Given the description of an element on the screen output the (x, y) to click on. 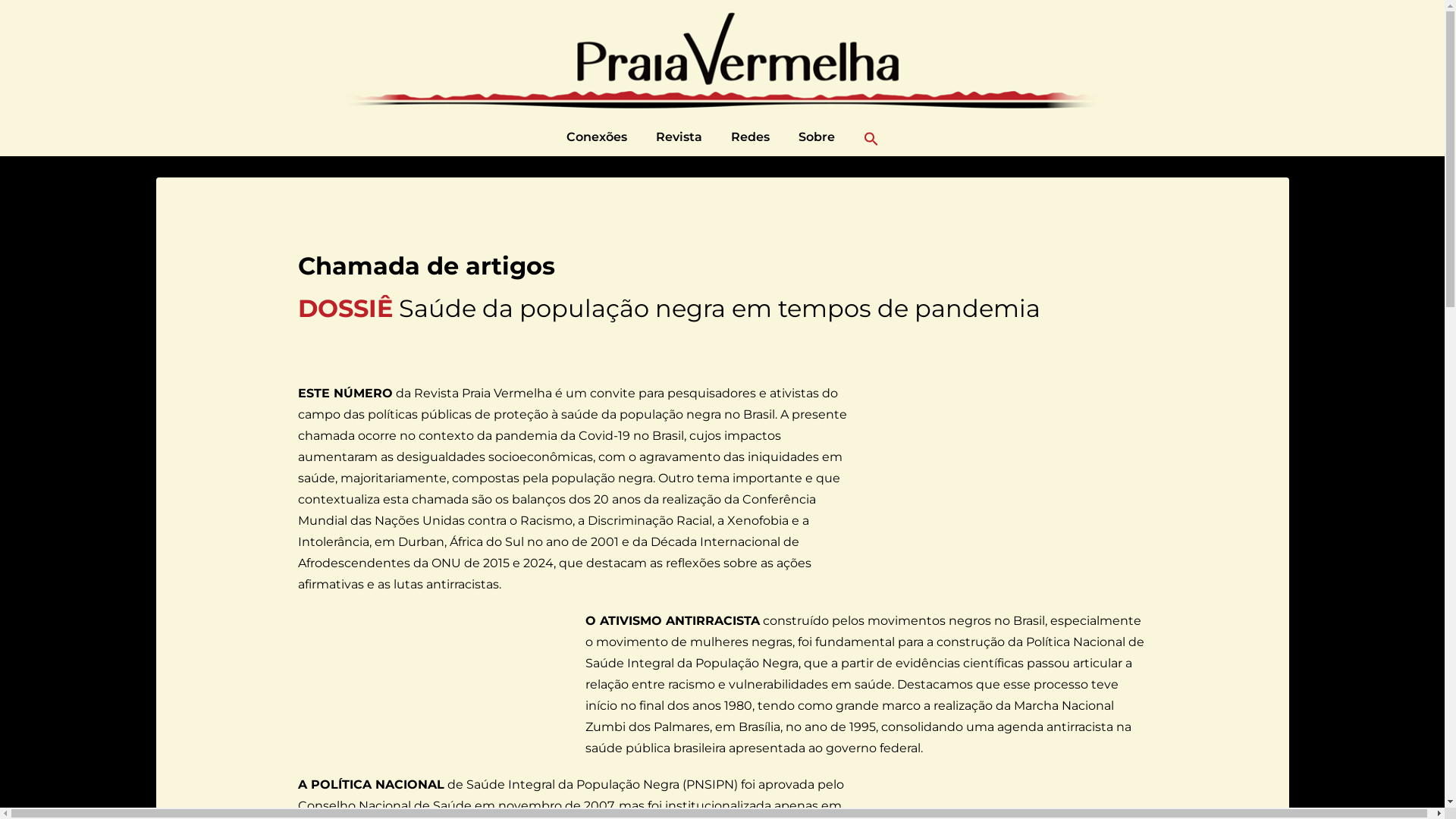
Redes Element type: text (750, 136)
Revista Element type: text (678, 136)
Sobre Element type: text (815, 136)
